Given the description of an element on the screen output the (x, y) to click on. 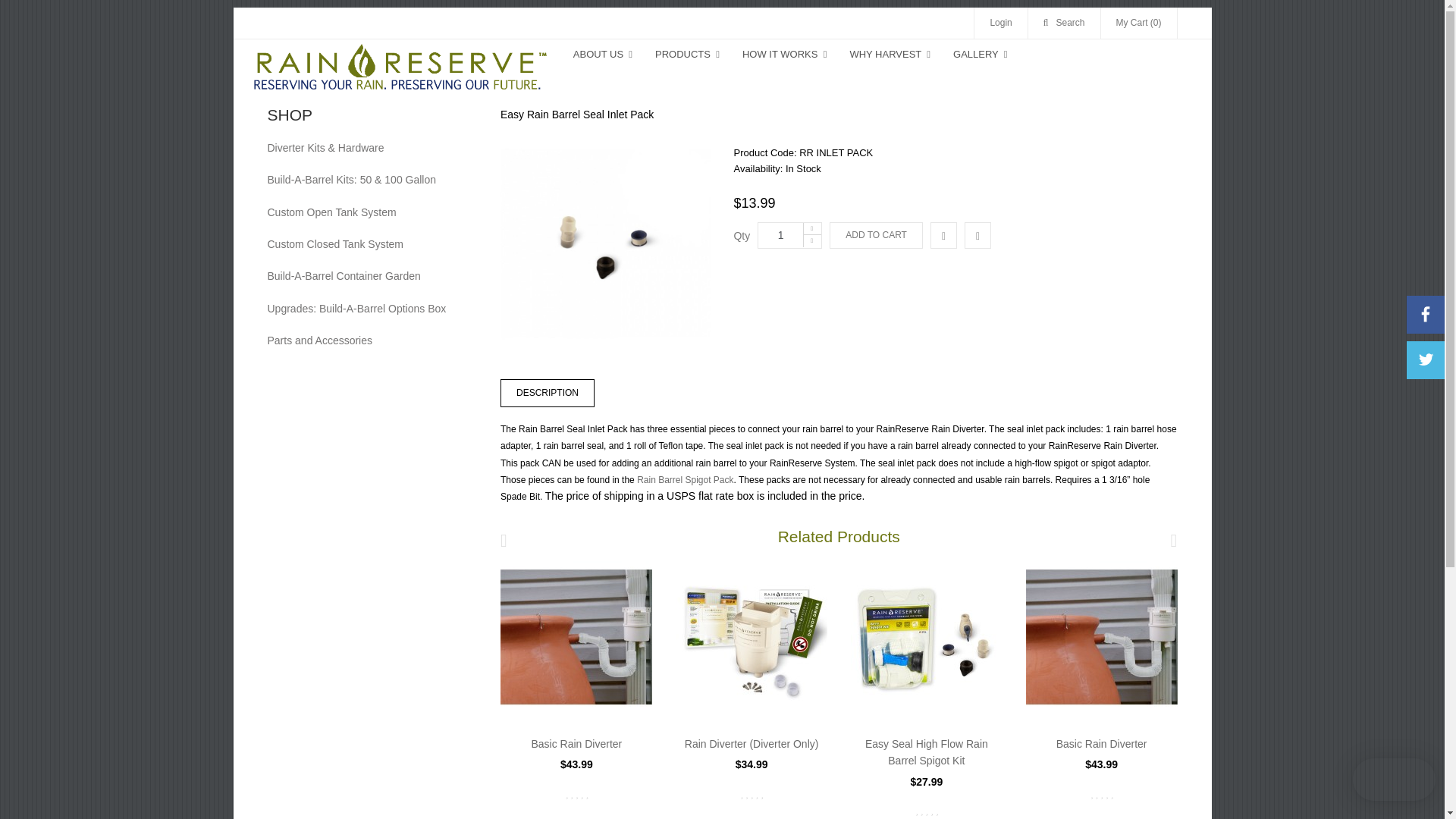
GALLERY   (980, 54)
Add to wishlist (977, 234)
1 (789, 234)
Add to cart (876, 234)
Add to compare (943, 234)
PRODUCTS   (686, 54)
WHY HARVEST   (890, 54)
RainReserve (400, 72)
HOW IT WORKS   (784, 54)
Easy Rain Barrel Seal Inlet Pack (605, 243)
ABOUT US   (602, 54)
